Given the description of an element on the screen output the (x, y) to click on. 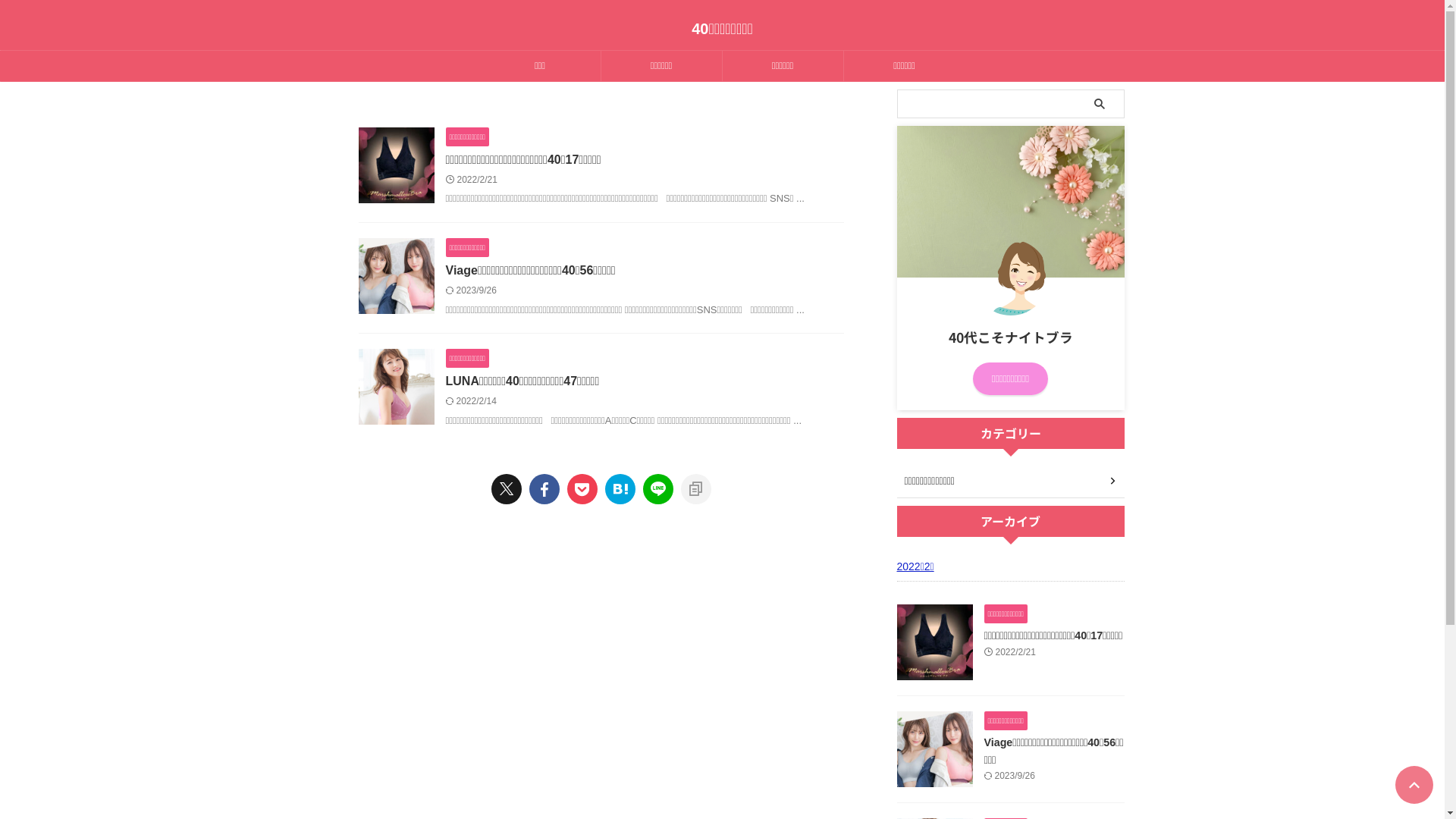
urlcopy Element type: hover (695, 488)
twitter Element type: hover (506, 488)
line Element type: hover (658, 488)
facebook Element type: hover (544, 488)
pocket Element type: hover (582, 488)
